Given the description of an element on the screen output the (x, y) to click on. 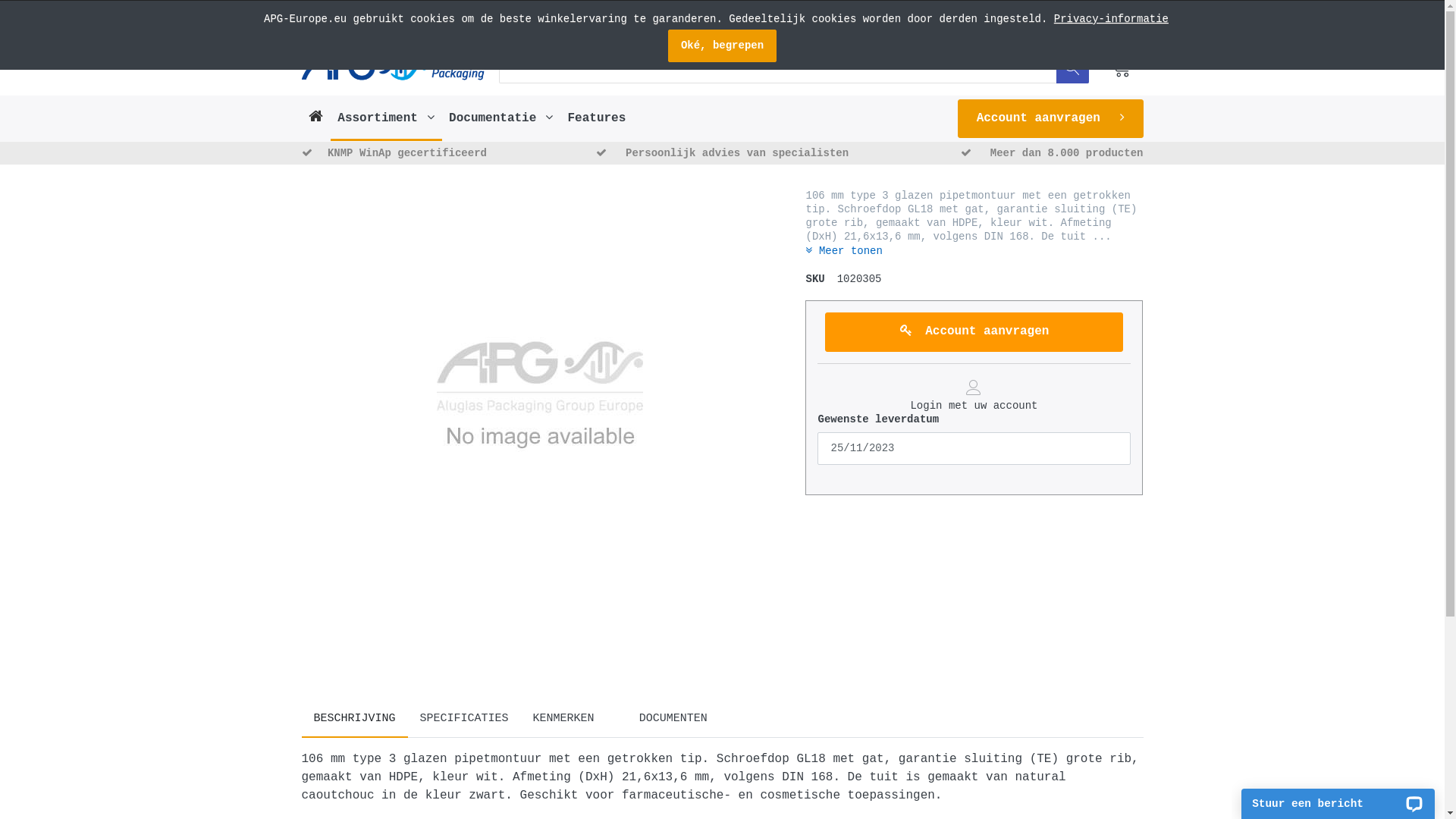
Account aanvragen Element type: text (973, 331)
Contact Element type: text (785, 26)
Documentatie Element type: text (500, 118)
Over ons Element type: text (971, 26)
BE Element type: text (322, 26)
Features Element type: text (596, 118)
BESCHRIJVING Element type: text (354, 718)
Nieuws Element type: text (1024, 26)
APG-Pharma.be Element type: hover (394, 67)
Documentatie Element type: text (664, 26)
Kennisbank Element type: text (589, 26)
Account aanvragen Element type: text (1050, 118)
Meer tonen Element type: text (843, 250)
Support Element type: text (732, 26)
Assortiment Element type: text (386, 118)
DOCUMENTEN Element type: text (662, 718)
Privacy-informatie Element type: text (1111, 18)
Kwaliteit en auditing Element type: text (876, 26)
SPECIFICATIES Element type: text (463, 718)
Zoeken Element type: hover (1072, 66)
Login met uw account Element type: text (973, 395)
KENMERKEN Element type: text (563, 718)
Aanmelden Element type: text (1101, 26)
